Given the description of an element on the screen output the (x, y) to click on. 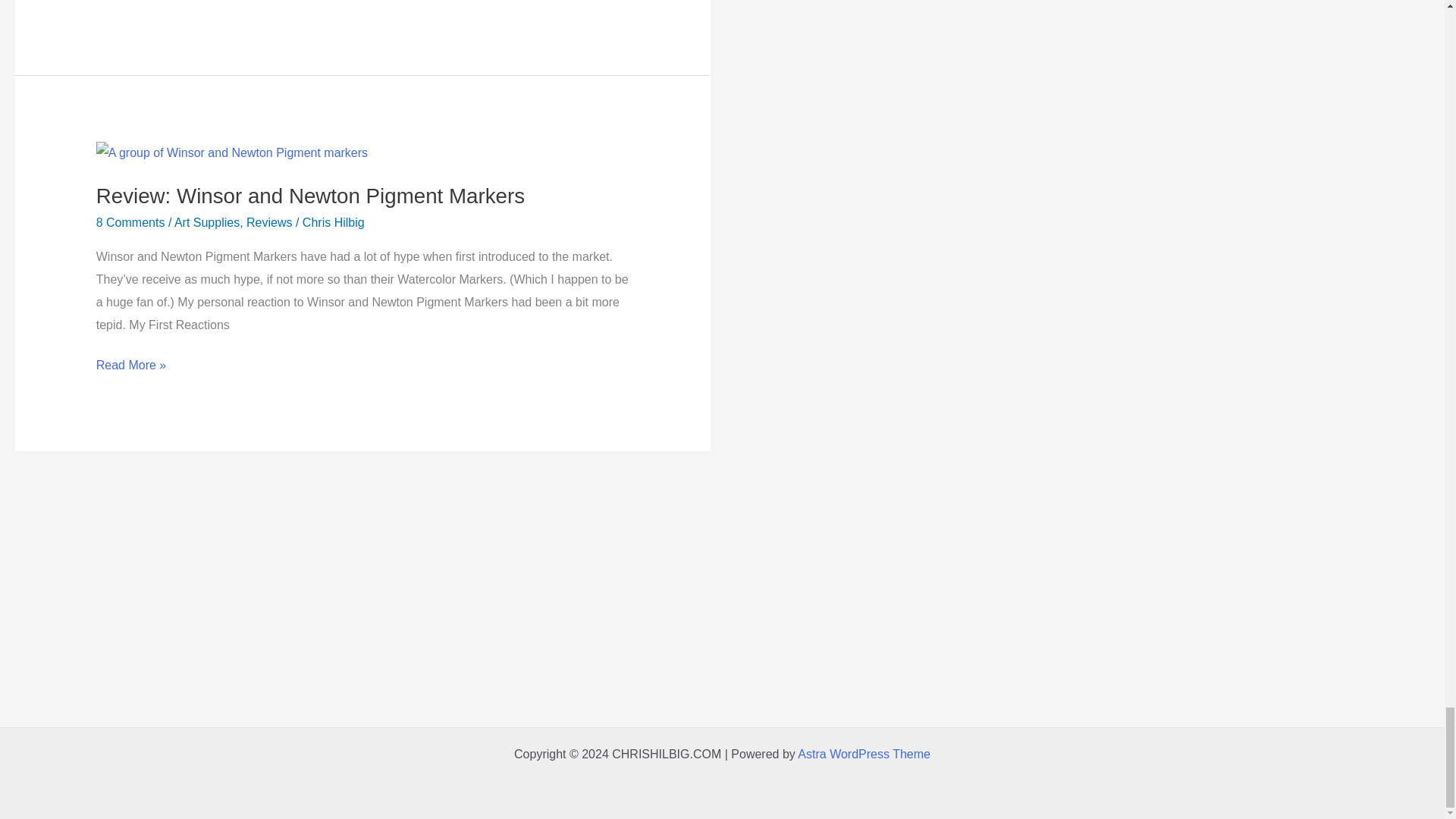
View all posts by Chris Hilbig (333, 222)
